Given the description of an element on the screen output the (x, y) to click on. 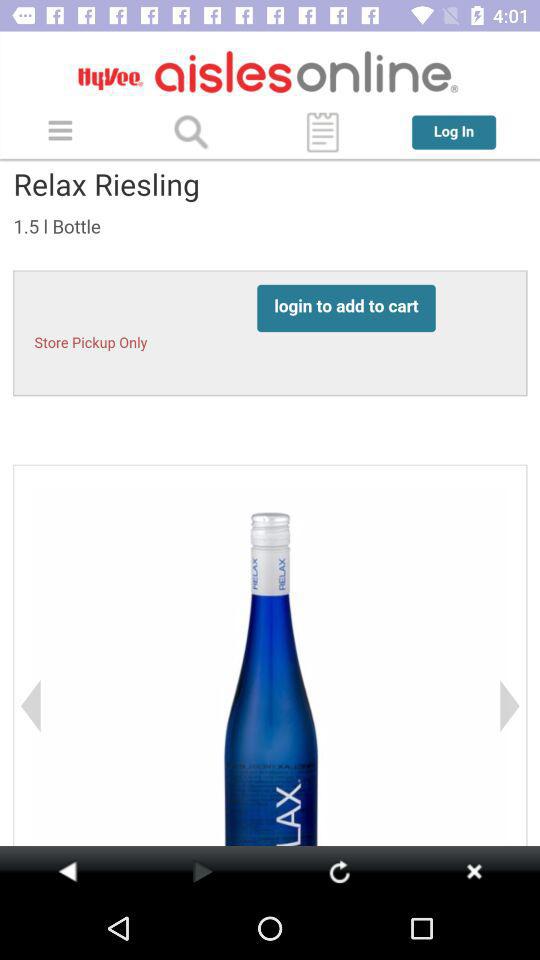
go next (202, 871)
